Given the description of an element on the screen output the (x, y) to click on. 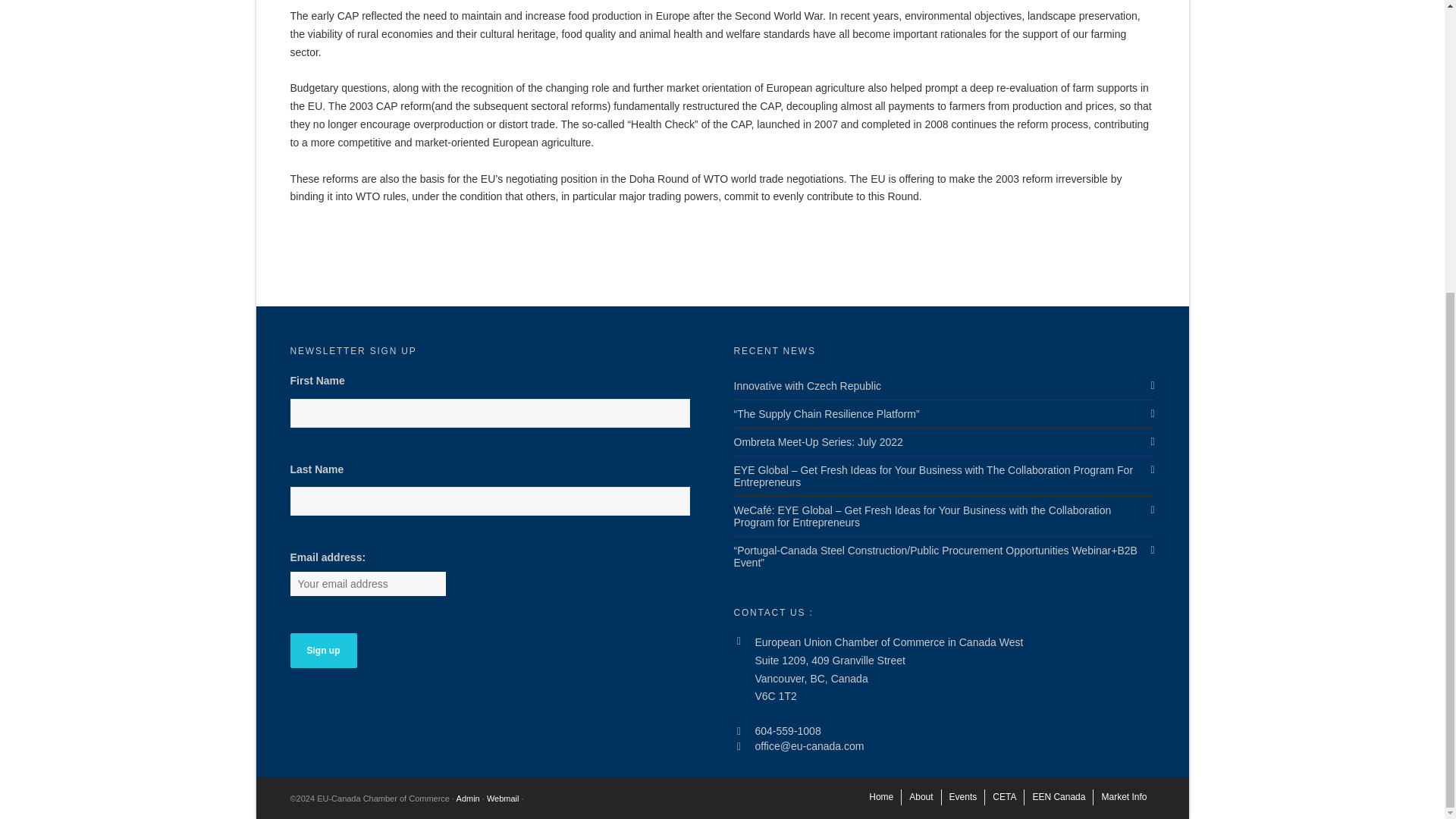
Ombreta Meet-Up Series: July 2022 (943, 441)
Sign up (322, 650)
Sign up (322, 650)
Innovative with Czech Republic (943, 385)
